Given the description of an element on the screen output the (x, y) to click on. 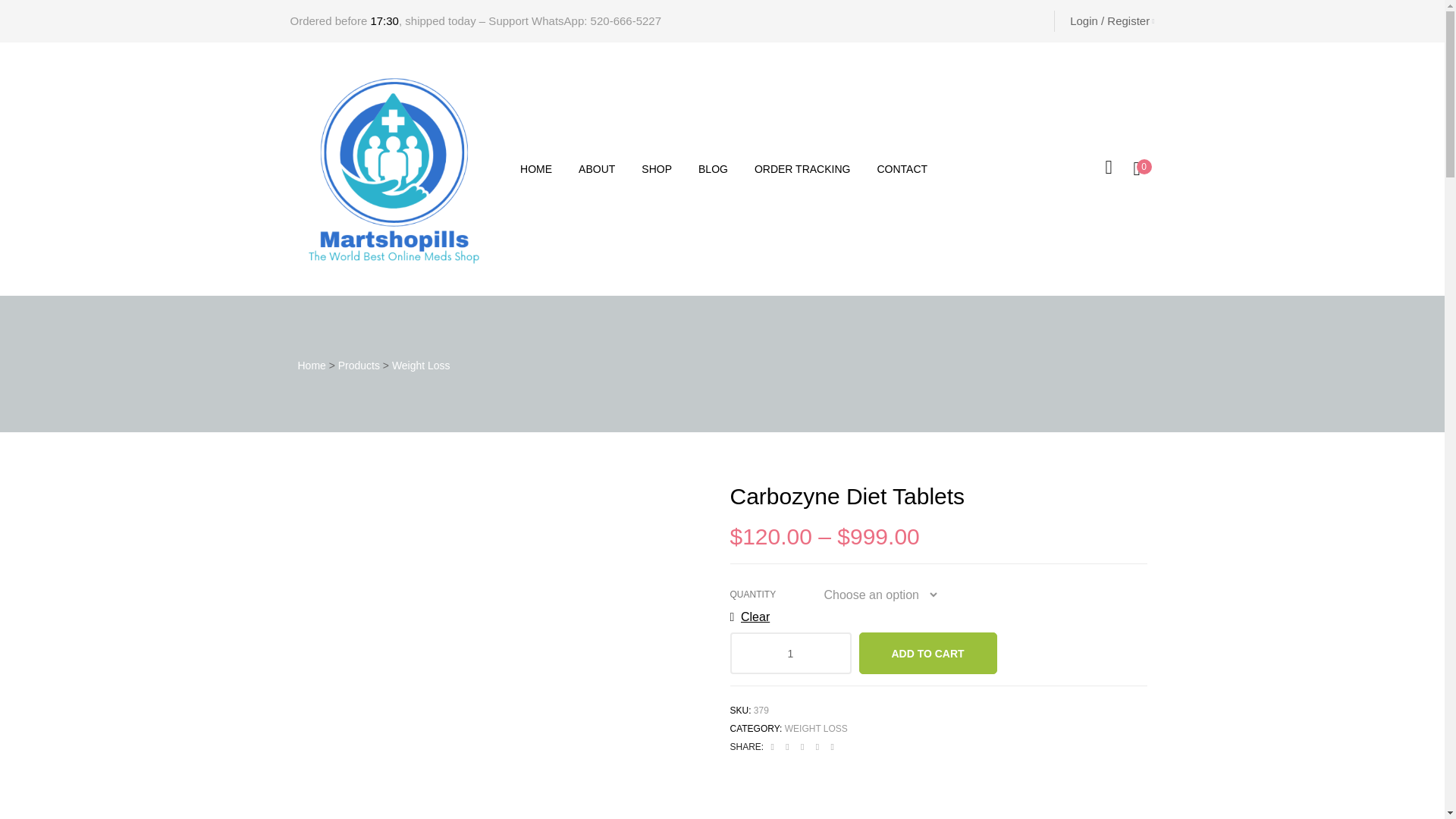
ADD TO CART (927, 653)
ABOUT (596, 168)
Home (310, 365)
0 (1142, 168)
1 (790, 652)
Weight Loss (420, 365)
Go to Marst shopills. (310, 365)
ORDER TRACKING (802, 168)
CONTACT (901, 168)
Go to the Weight Loss Category archives. (420, 365)
